Given the description of an element on the screen output the (x, y) to click on. 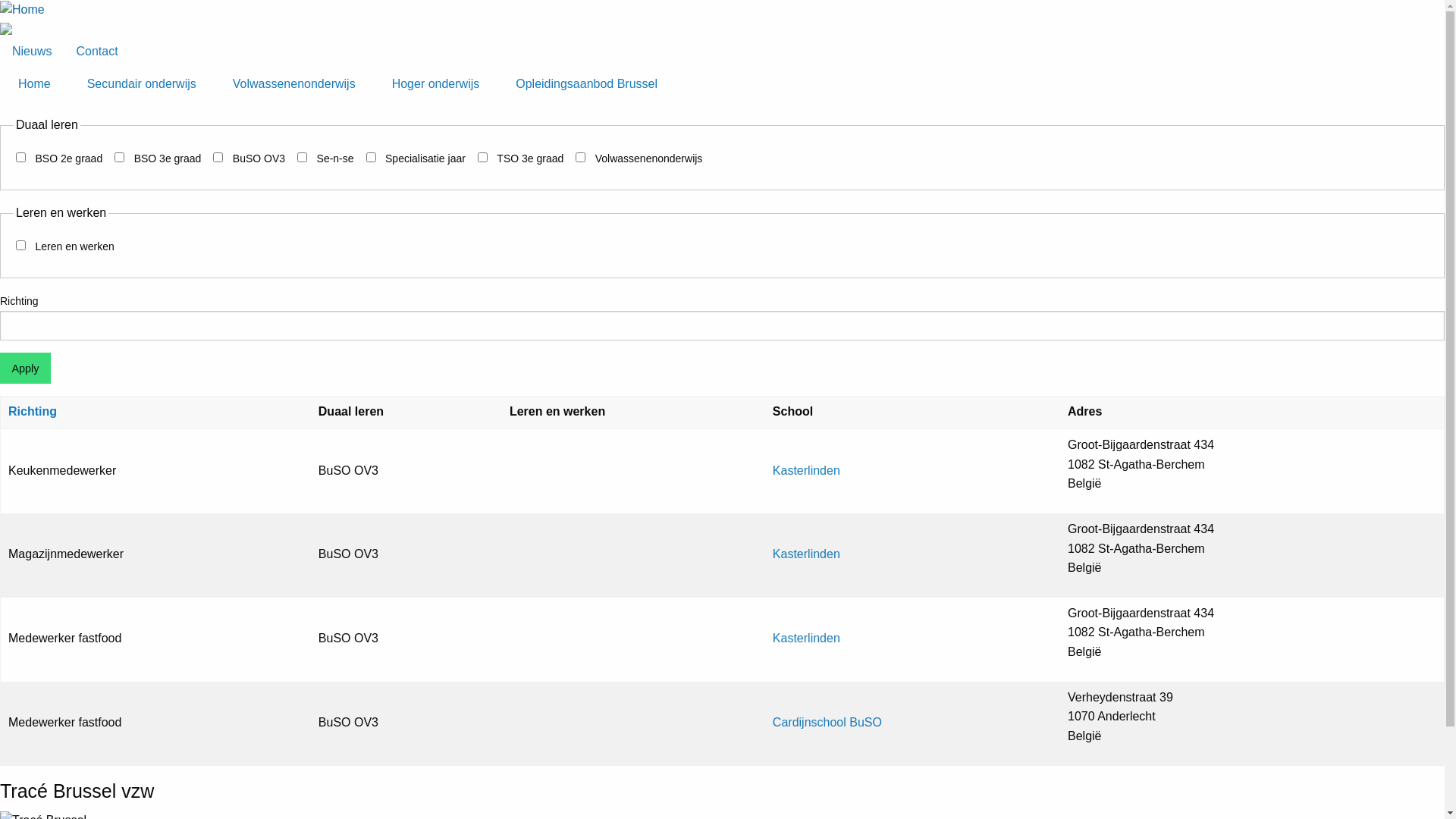
Kasterlinden Element type: text (806, 470)
Volwassenenonderwijs Element type: text (293, 83)
Secundair onderwijs Element type: text (141, 83)
Cardijnschool BuSO Element type: text (826, 721)
Opleidingsaanbod Brussel Element type: text (586, 83)
Kasterlinden Element type: text (806, 637)
Contact Element type: text (96, 51)
Richting
Aflopend sorteren Element type: text (40, 410)
Kasterlinden Element type: text (806, 553)
Hoger onderwijs Element type: text (435, 83)
Apply Element type: text (25, 367)
Nieuws Element type: text (31, 51)
Home Element type: text (34, 83)
Overslaan en naar de inhoud gaan Element type: text (0, 0)
